Given the description of an element on the screen output the (x, y) to click on. 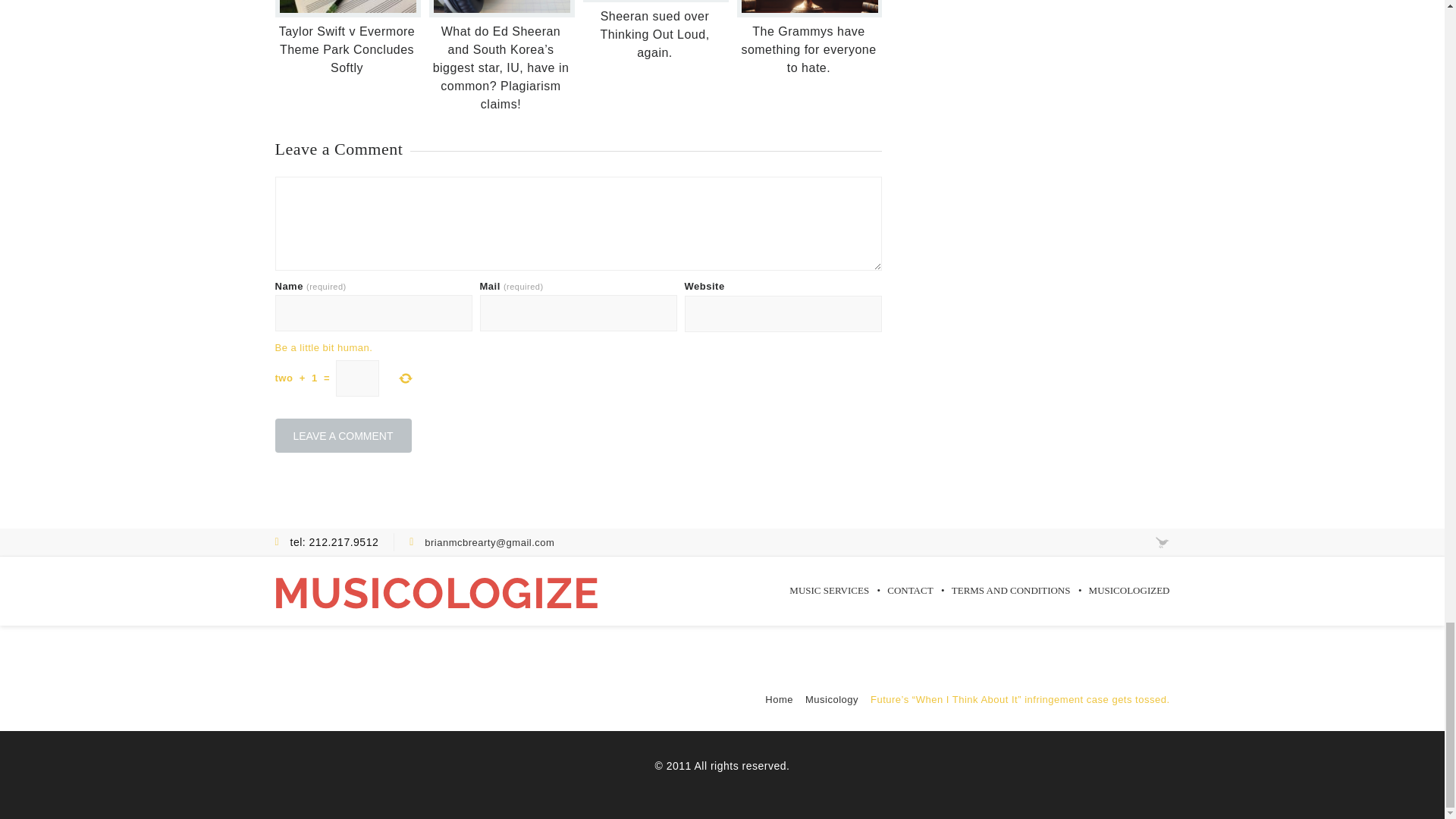
Taylor Swift v Evermore Theme Park Concludes Softly (346, 49)
Leave a Comment (342, 435)
Leave a Comment (342, 435)
Sheeran sued over Thinking Out Loud, again. (654, 33)
The Grammys have something for everyone to hate. (808, 49)
